Given the description of an element on the screen output the (x, y) to click on. 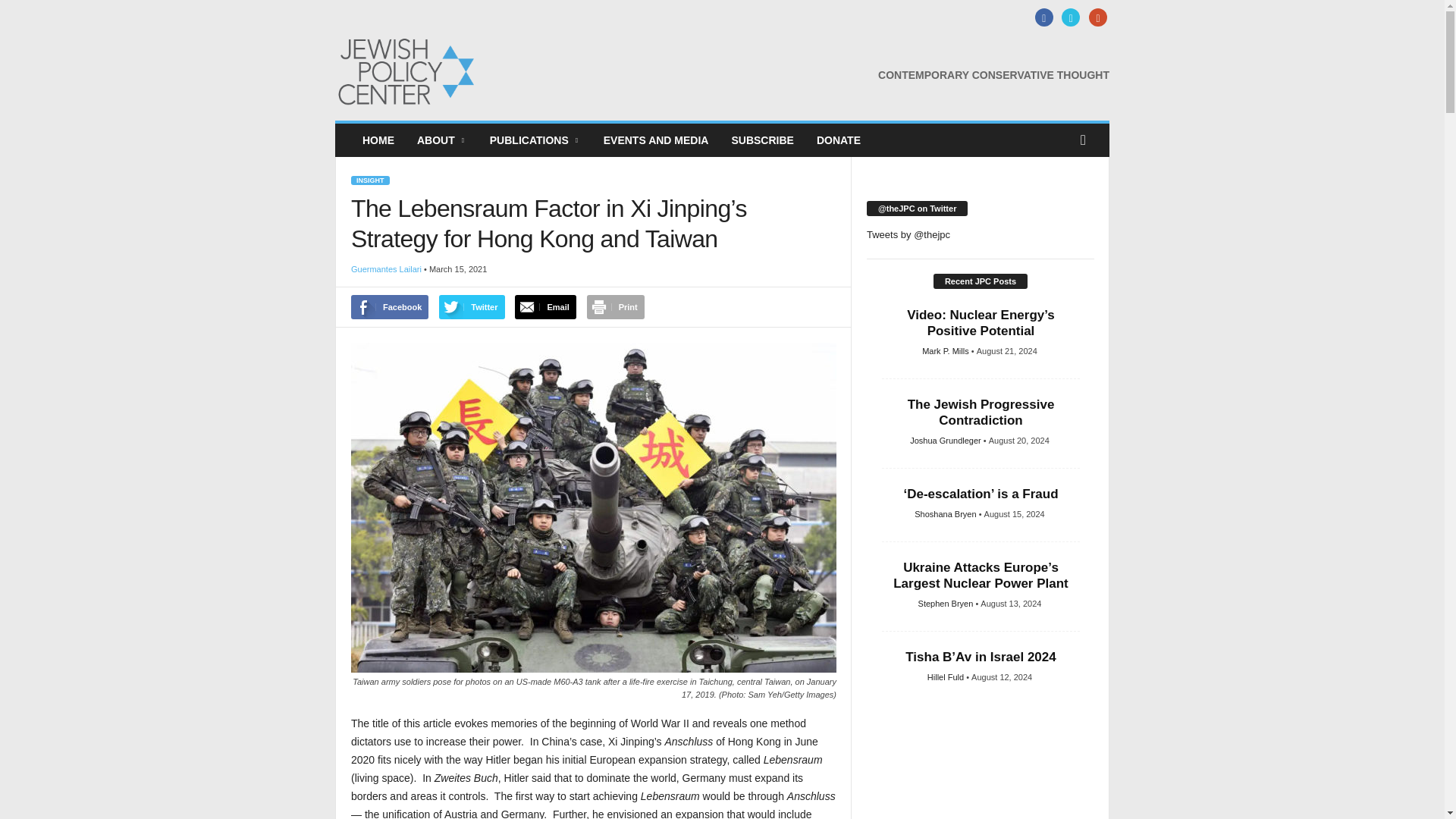
Youtube (1095, 18)
Facebook (1041, 18)
ABOUT (442, 140)
PUBLICATIONS (535, 140)
HOME (378, 140)
DONATE (838, 140)
SUBSCRIBE (762, 140)
Jewish Policy Center (437, 70)
EVENTS AND MEDIA (656, 140)
